Given the description of an element on the screen output the (x, y) to click on. 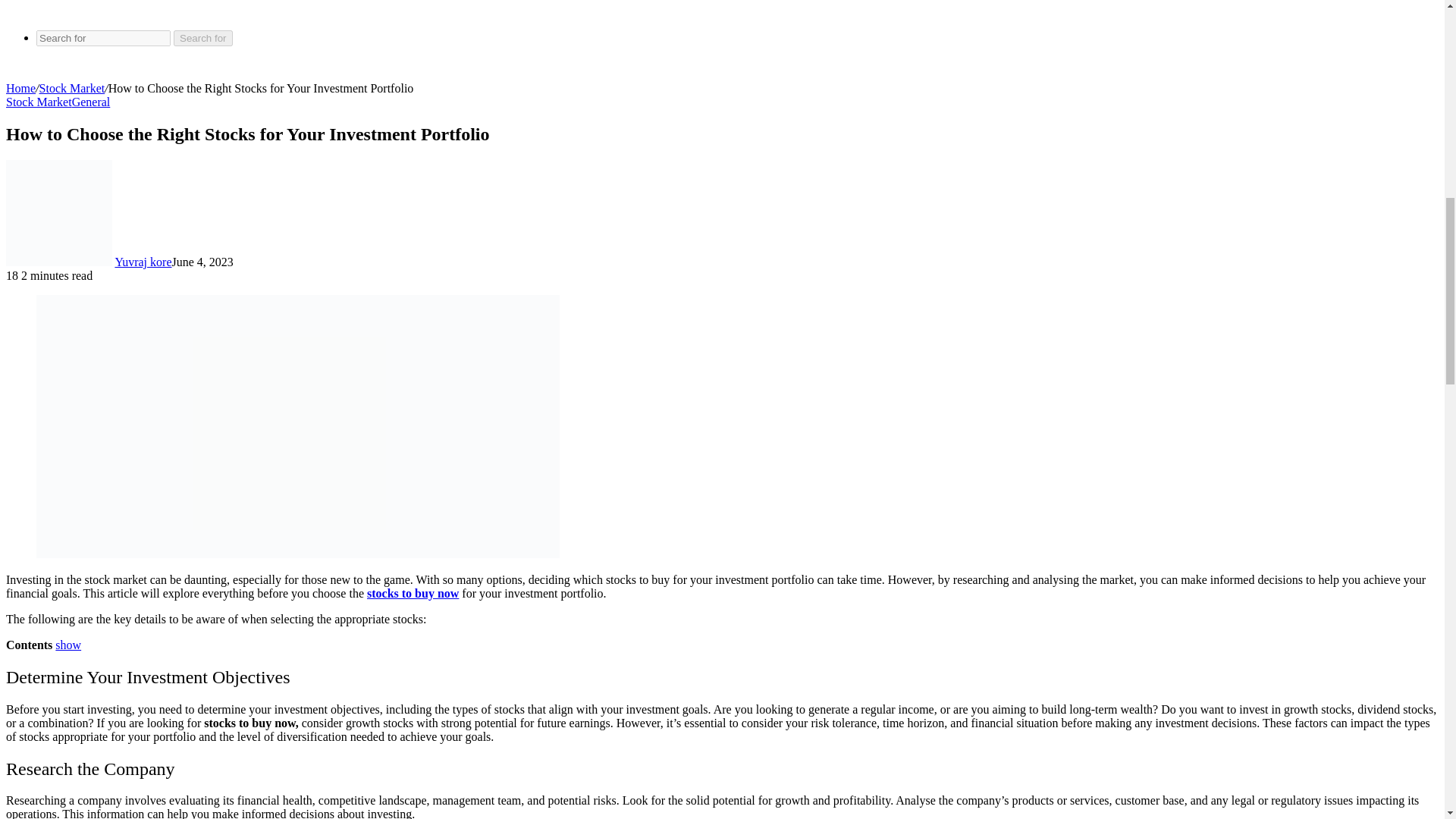
Stock Market (38, 101)
Search for (103, 37)
show (68, 644)
Yuvraj kore (143, 261)
Search for (202, 37)
General (90, 101)
stocks to buy now (412, 593)
Stock Market (71, 88)
Home (19, 88)
Yuvraj kore (143, 261)
